Given the description of an element on the screen output the (x, y) to click on. 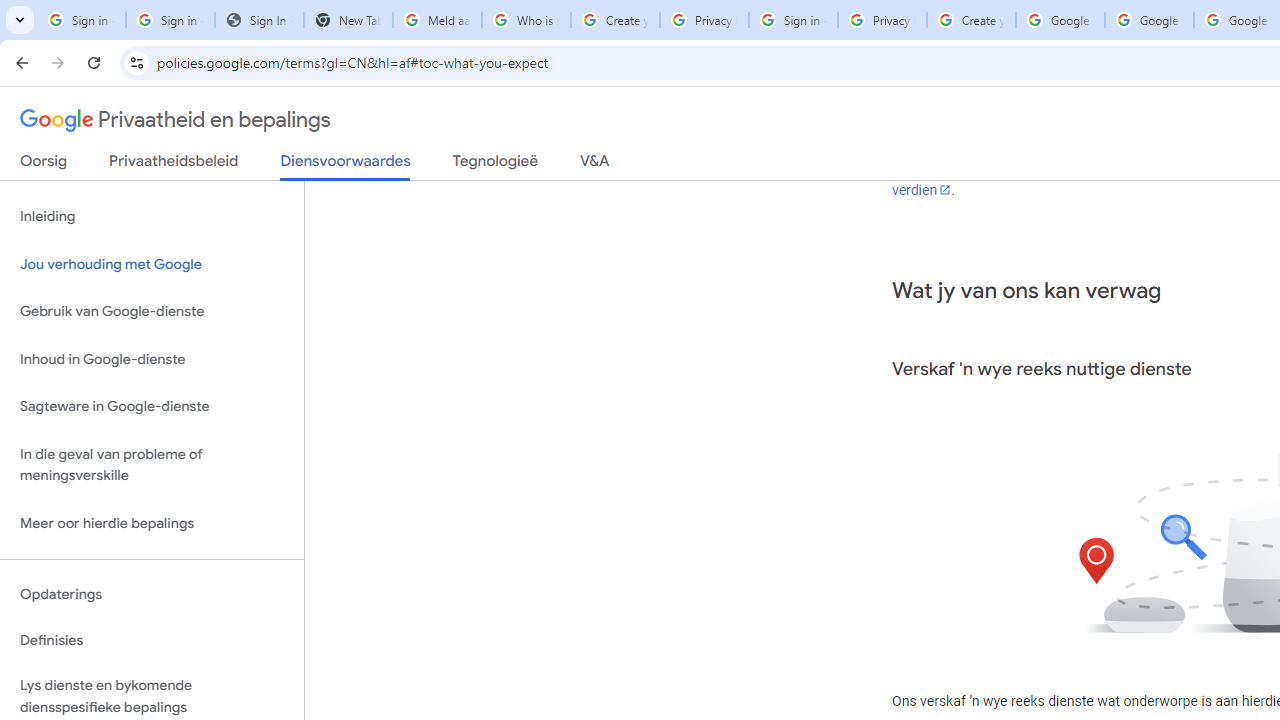
Sign in - Google Accounts (170, 20)
Definisies (152, 640)
Opdaterings (152, 594)
